Given the description of an element on the screen output the (x, y) to click on. 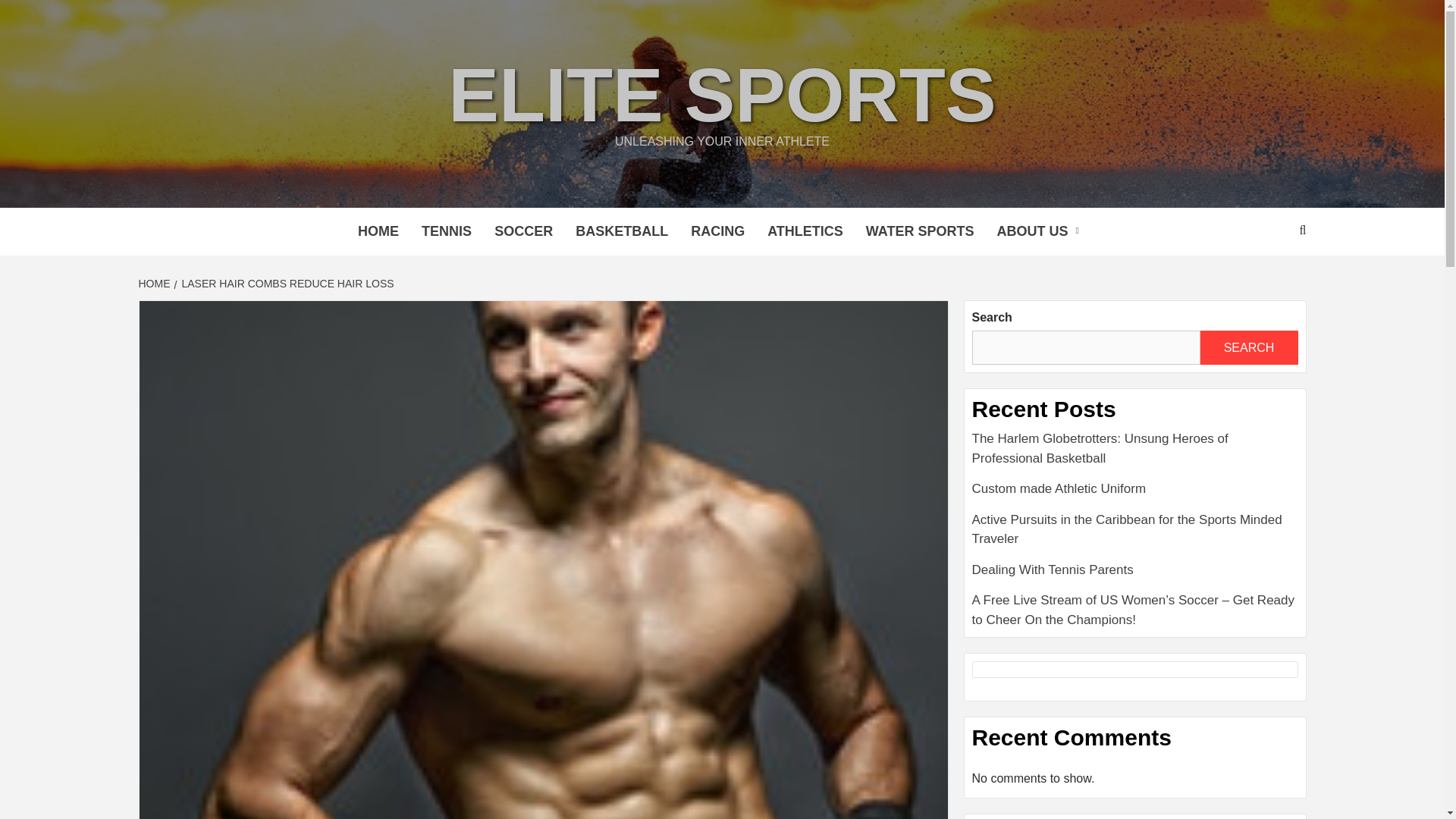
ABOUT US (1041, 231)
ELITE SPORTS (721, 94)
SOCCER (523, 231)
HOME (155, 283)
RACING (717, 231)
TENNIS (446, 231)
Custom made Athletic Uniform (1135, 494)
ATHLETICS (804, 231)
SEARCH (1248, 347)
Dealing With Tennis Parents (1135, 575)
LASER HAIR COMBS REDUCE HAIR LOSS (285, 283)
BASKETBALL (621, 231)
